Given the description of an element on the screen output the (x, y) to click on. 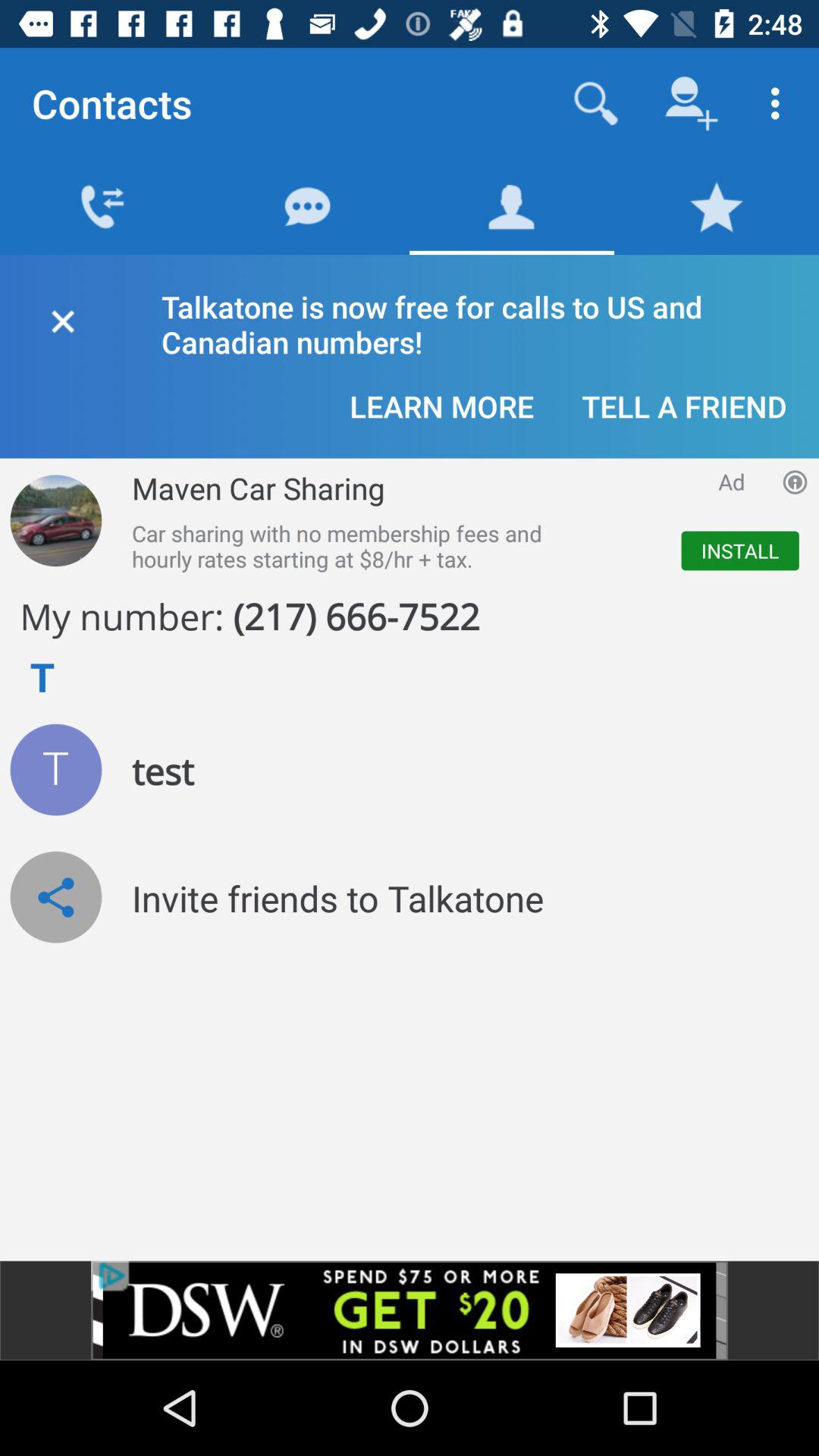
test button (55, 769)
